Given the description of an element on the screen output the (x, y) to click on. 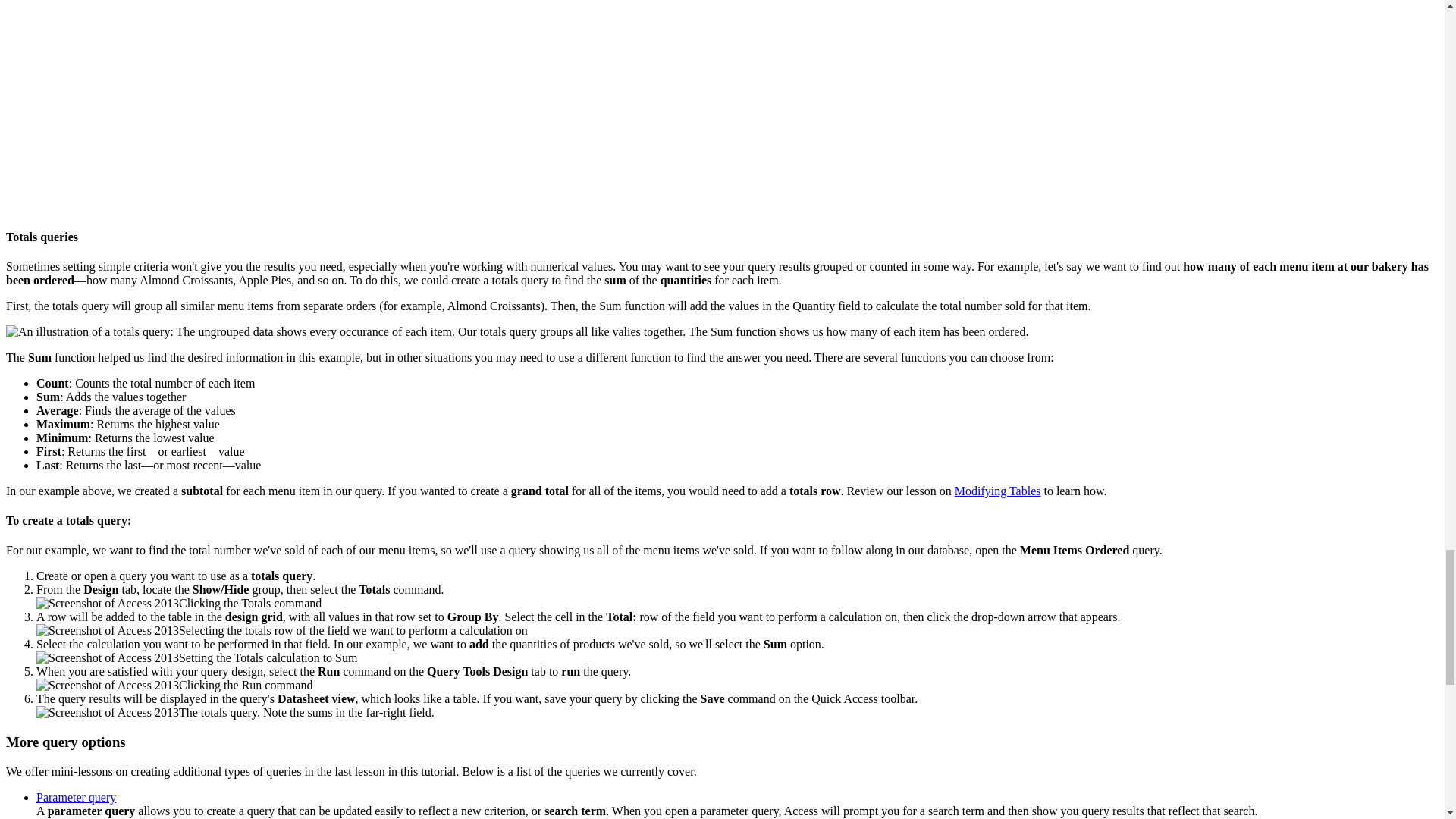
Modifying Tables (998, 490)
